Given the description of an element on the screen output the (x, y) to click on. 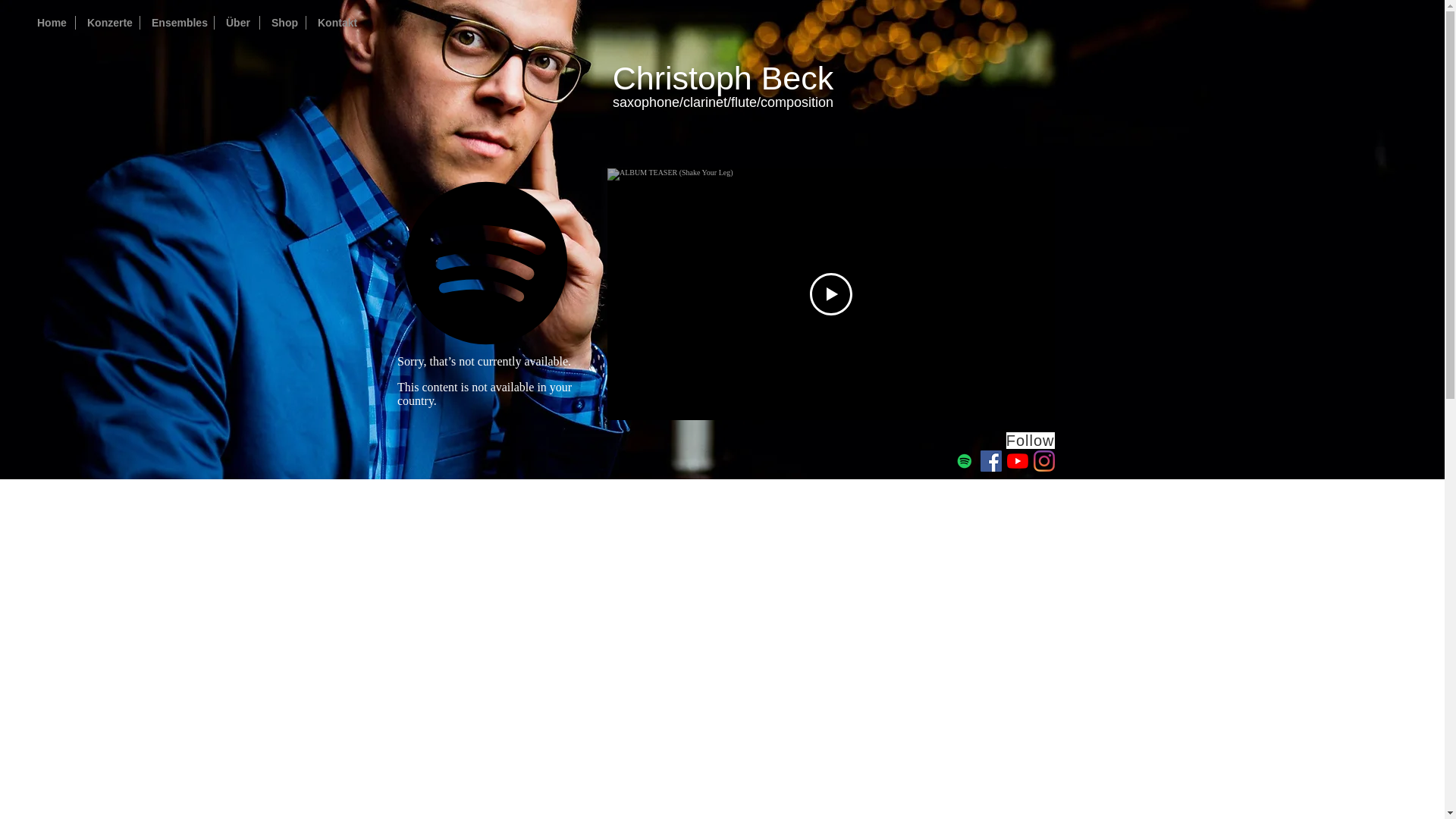
Home (50, 22)
Christoph Beck (723, 77)
Shop (282, 22)
Kontakt (333, 22)
Ensembles (176, 22)
Konzerte (107, 22)
